Given the description of an element on the screen output the (x, y) to click on. 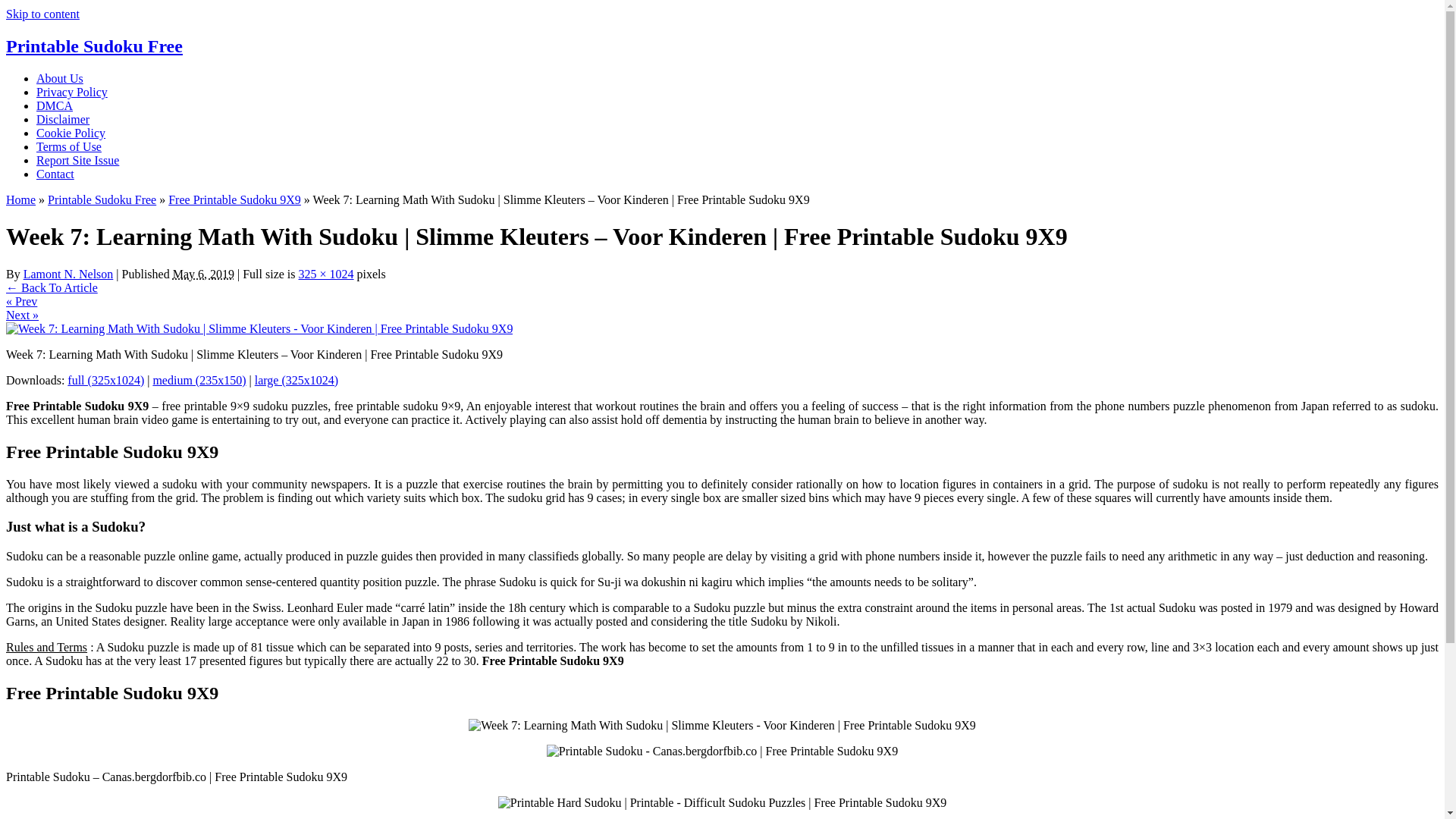
Terms of Use (68, 146)
Home (19, 199)
Cookie Policy (70, 132)
7:21 am (203, 273)
Free Printable Sudoku 9X9 (234, 199)
Printable Sudoku Free (101, 199)
Lamont N. Nelson (68, 273)
Contact (55, 173)
printable sudoku canas bergdorfbib co free printable sudoku (722, 751)
